Given the description of an element on the screen output the (x, y) to click on. 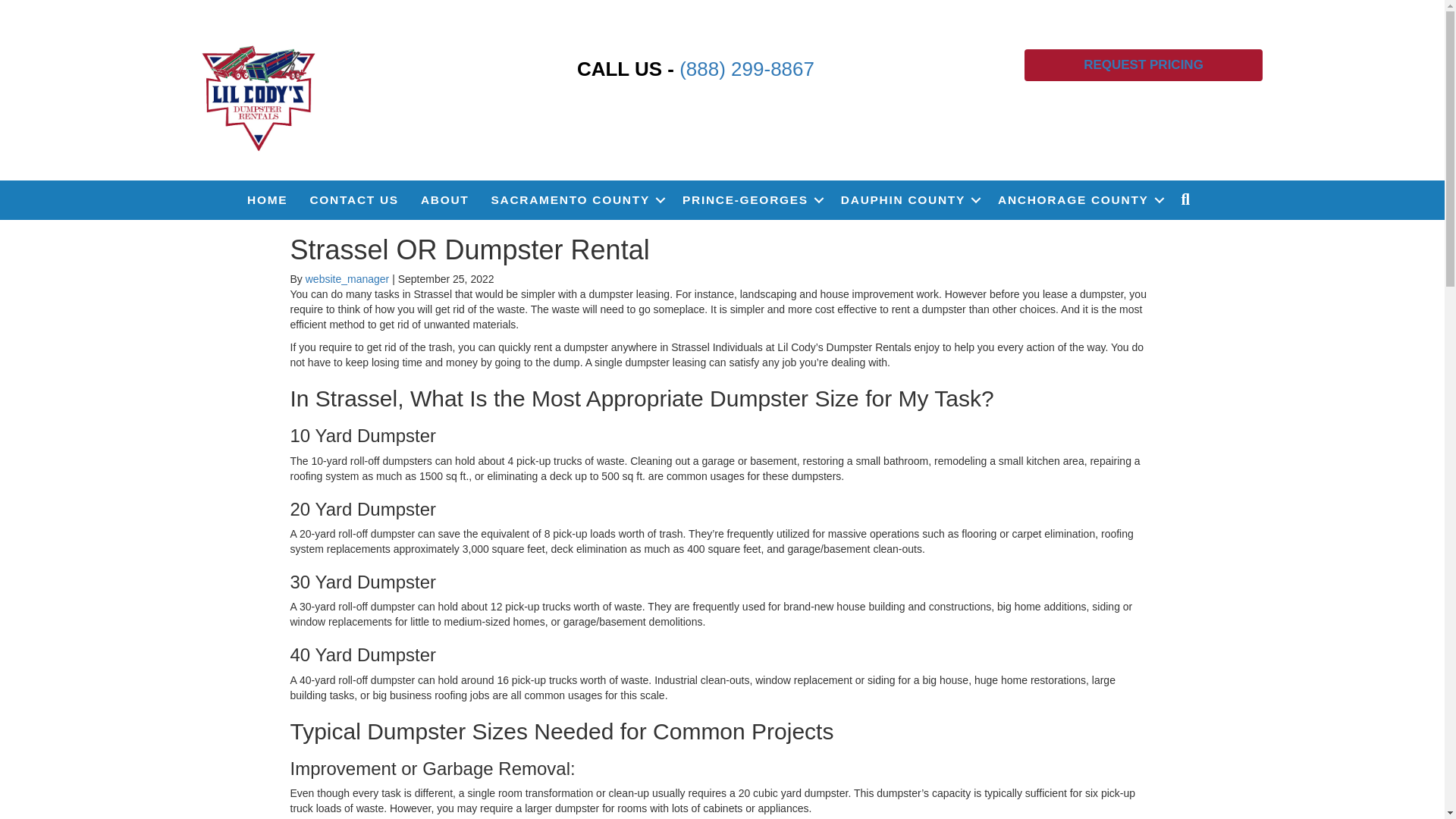
DAUPHIN COUNTY (908, 199)
HOME (266, 199)
REQUEST PRICING (1144, 65)
Skip to content (34, 6)
PRINCE-GEORGES (750, 199)
SACRAMENTO COUNTY (575, 199)
lilcodysdumpsters (258, 95)
CONTACT US (353, 199)
ABOUT (445, 199)
ANCHORAGE COUNTY (1078, 199)
